Given the description of an element on the screen output the (x, y) to click on. 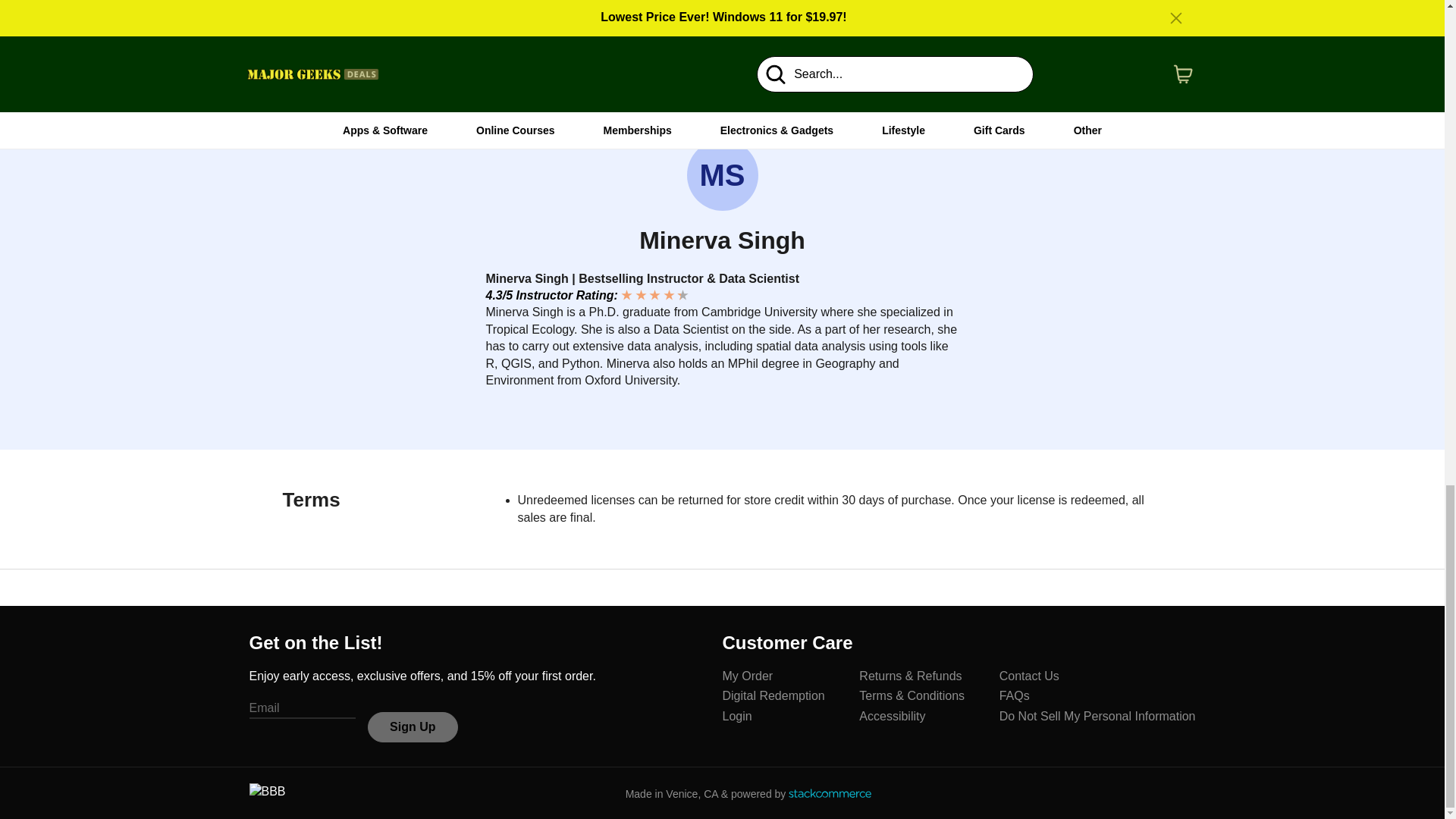
StackCommerce (829, 793)
